Given the description of an element on the screen output the (x, y) to click on. 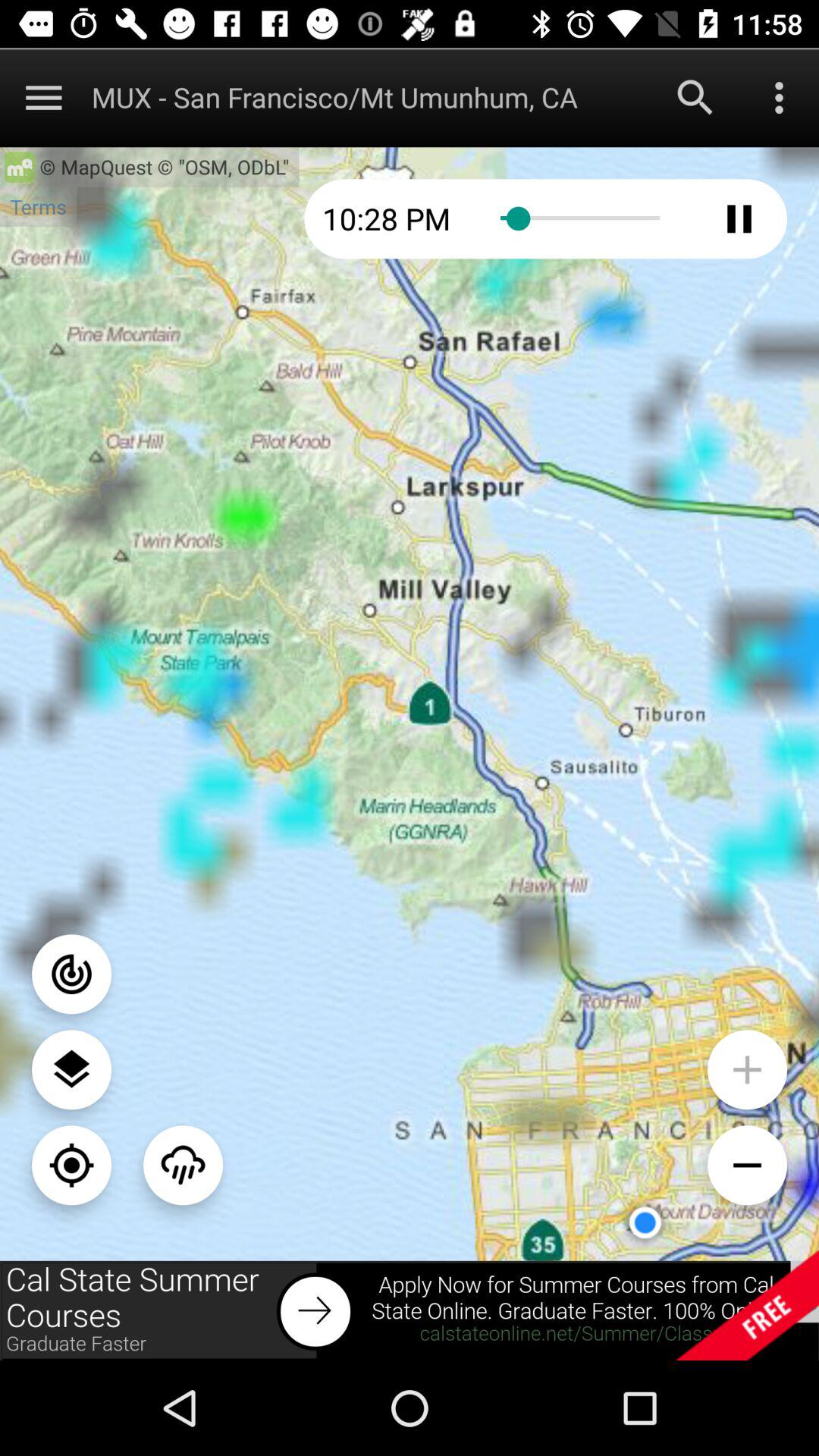
decrease distance (747, 1165)
